Given the description of an element on the screen output the (x, y) to click on. 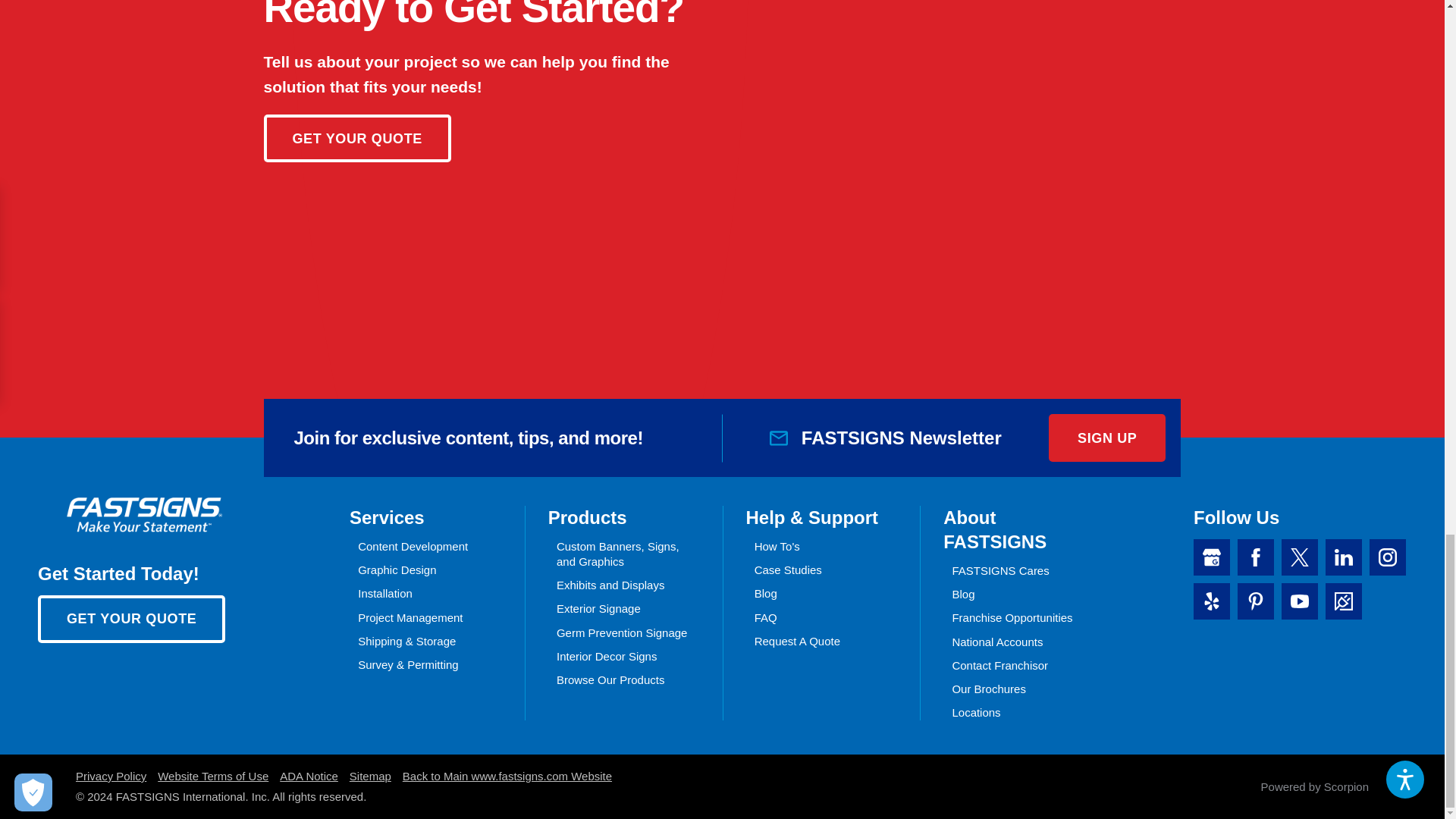
Instagram (1388, 556)
Google My Business (1211, 556)
Career Link (1342, 601)
Yelp (1211, 601)
Twitter (1299, 556)
Pinterest (1255, 601)
YouTube (1299, 601)
Facebook (1255, 556)
LinkedIn (1342, 556)
